Given the description of an element on the screen output the (x, y) to click on. 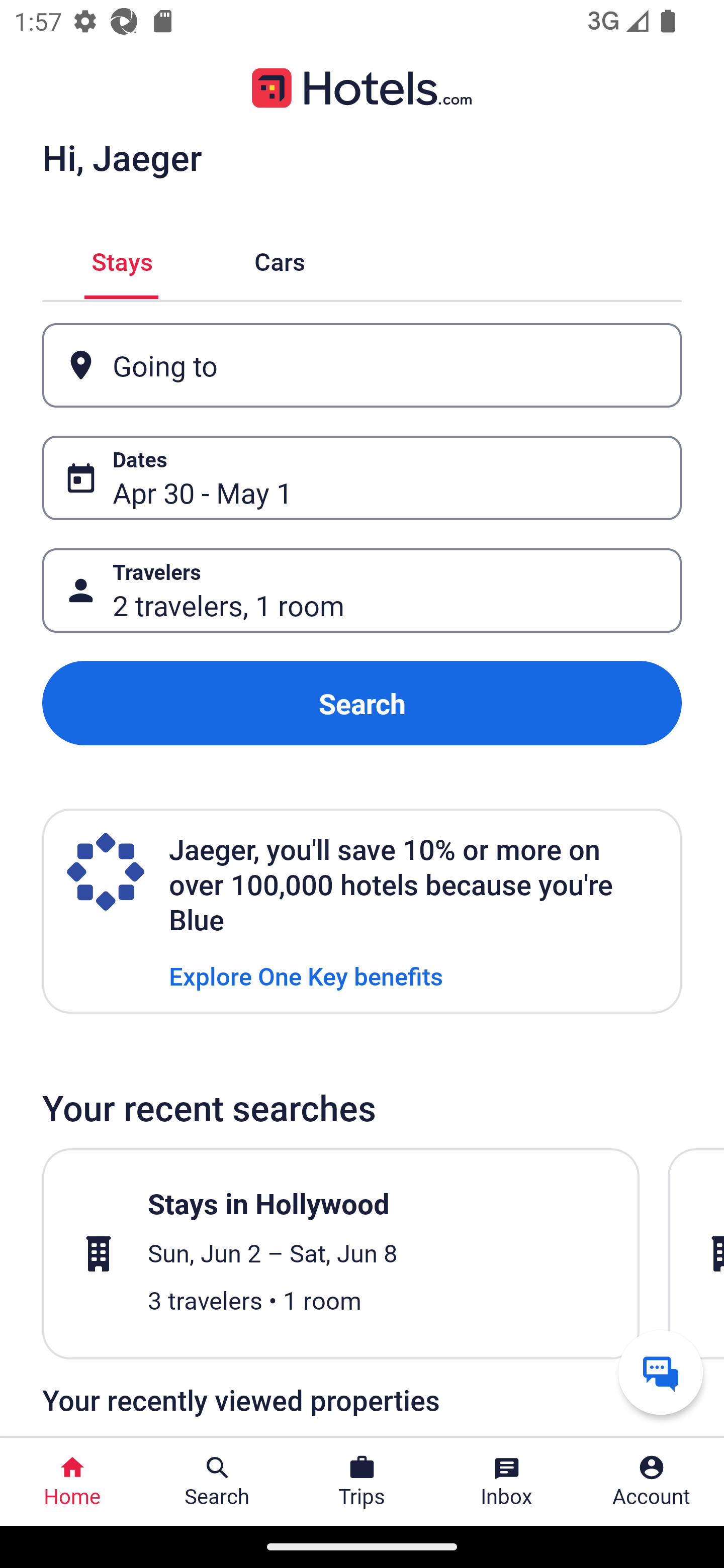
Hi, Jaeger (121, 156)
Cars (279, 259)
Going to Button (361, 365)
Dates Button Apr 30 - May 1 (361, 477)
Travelers Button 2 travelers, 1 room (361, 590)
Search (361, 702)
Get help from a virtual agent (660, 1371)
Search Search Button (216, 1481)
Trips Trips Button (361, 1481)
Inbox Inbox Button (506, 1481)
Account Profile. Button (651, 1481)
